Given the description of an element on the screen output the (x, y) to click on. 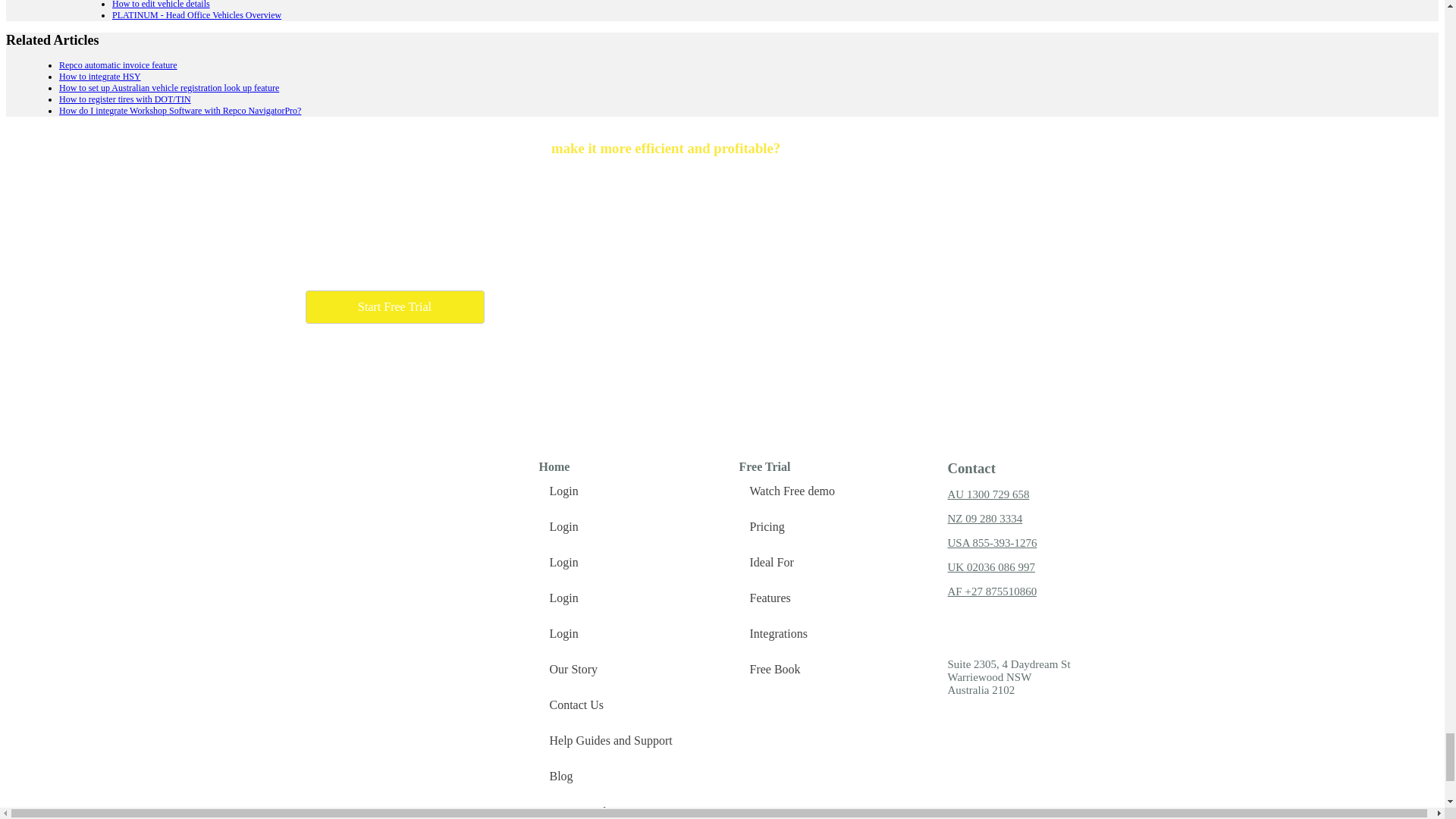
icon-logo (346, 490)
How to integrate HSY (100, 76)
Repco automatic invoice feature (118, 64)
